Given the description of an element on the screen output the (x, y) to click on. 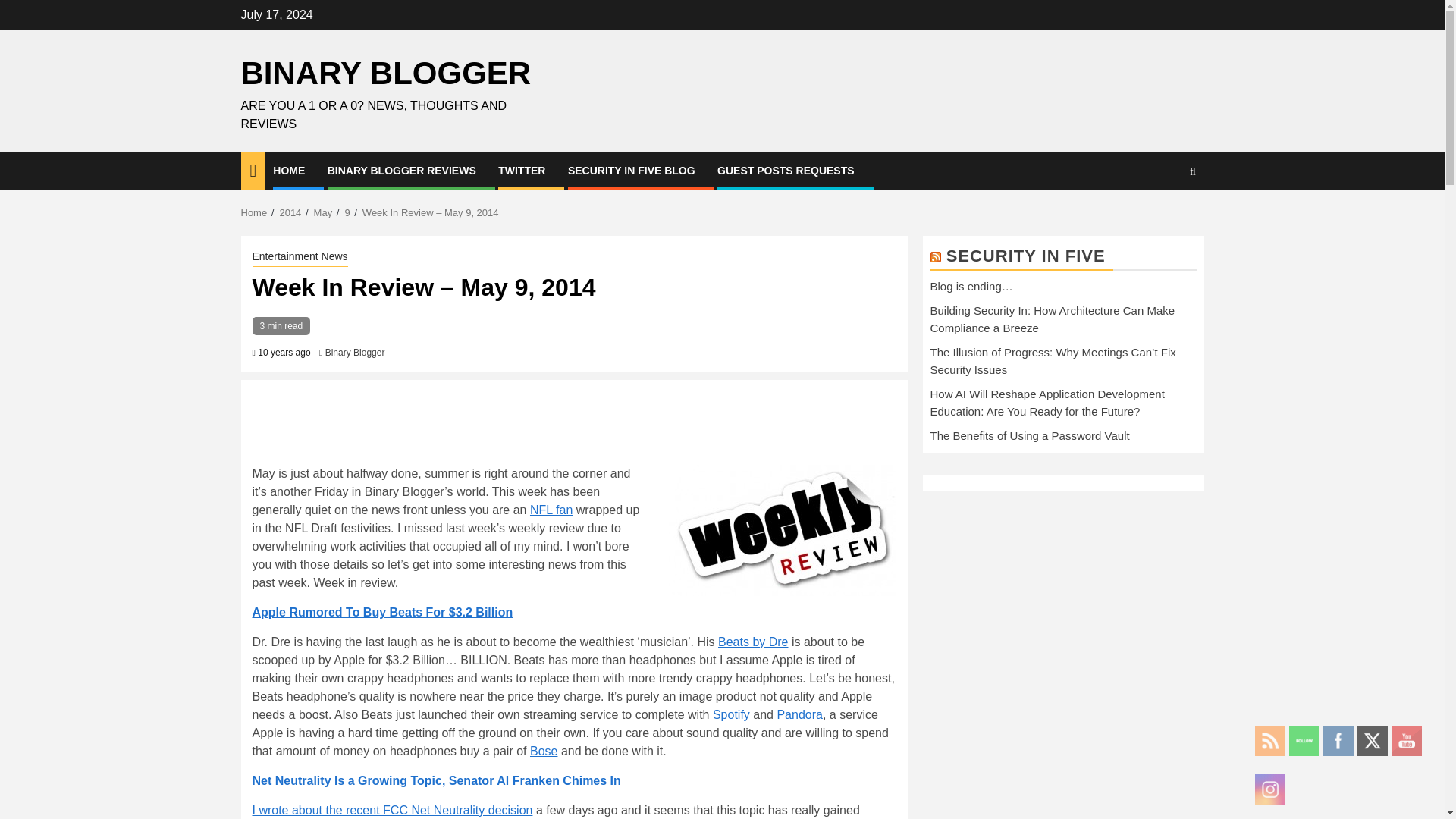
Pandora (799, 714)
NFL Draft 2014 (550, 509)
TWITTER (520, 170)
SECURITY IN FIVE BLOG (631, 170)
Beats By Dre (752, 641)
Apple To Buy Beats (381, 612)
HOME (288, 170)
BINARY BLOGGER (386, 72)
Bose (543, 750)
NFL fan (550, 509)
Entertainment News (299, 257)
2014 (290, 212)
Spotify (732, 714)
Advertisement (527, 425)
Binary Blogger (354, 352)
